Given the description of an element on the screen output the (x, y) to click on. 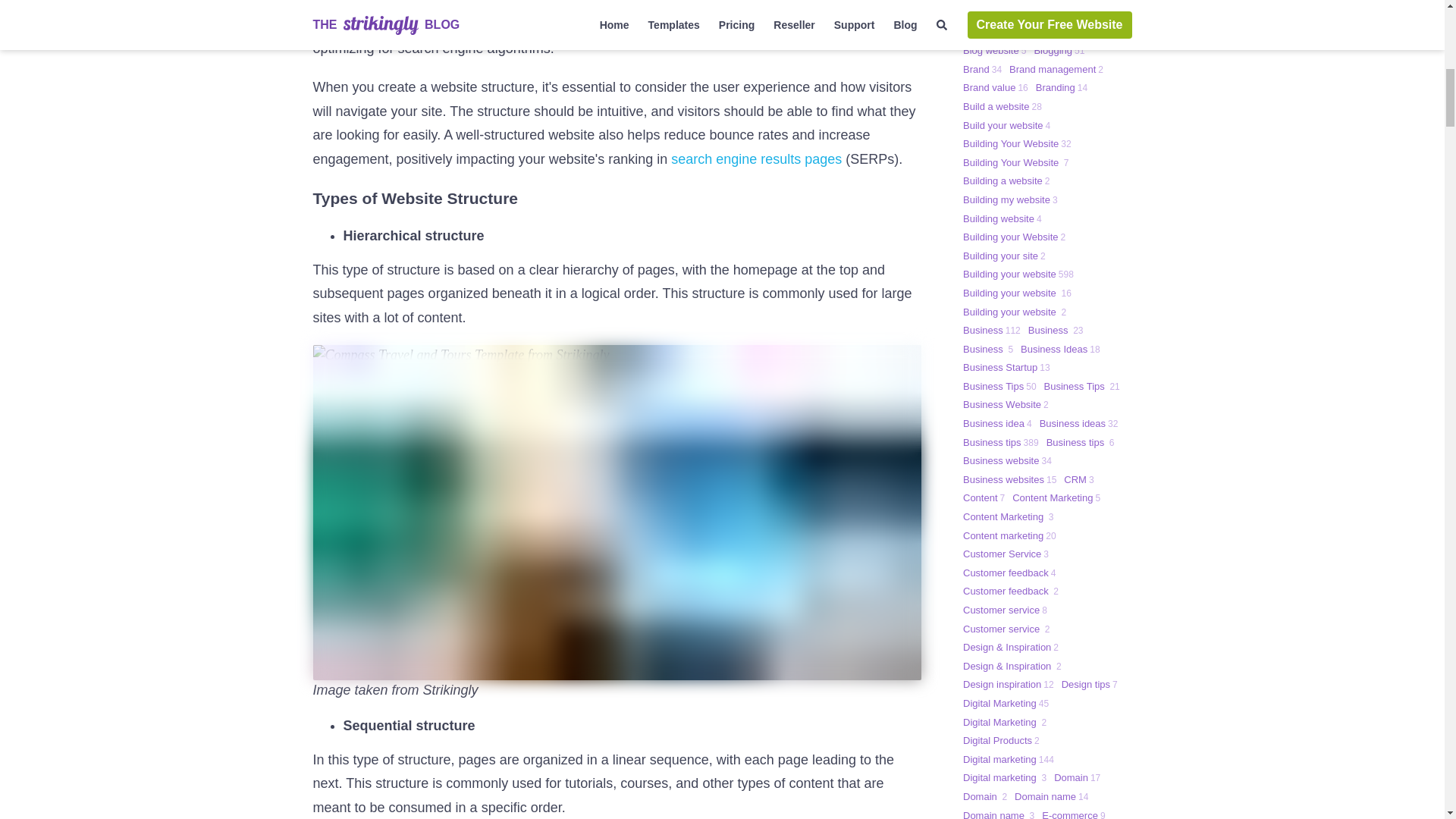
search engine results pages (756, 159)
